Given the description of an element on the screen output the (x, y) to click on. 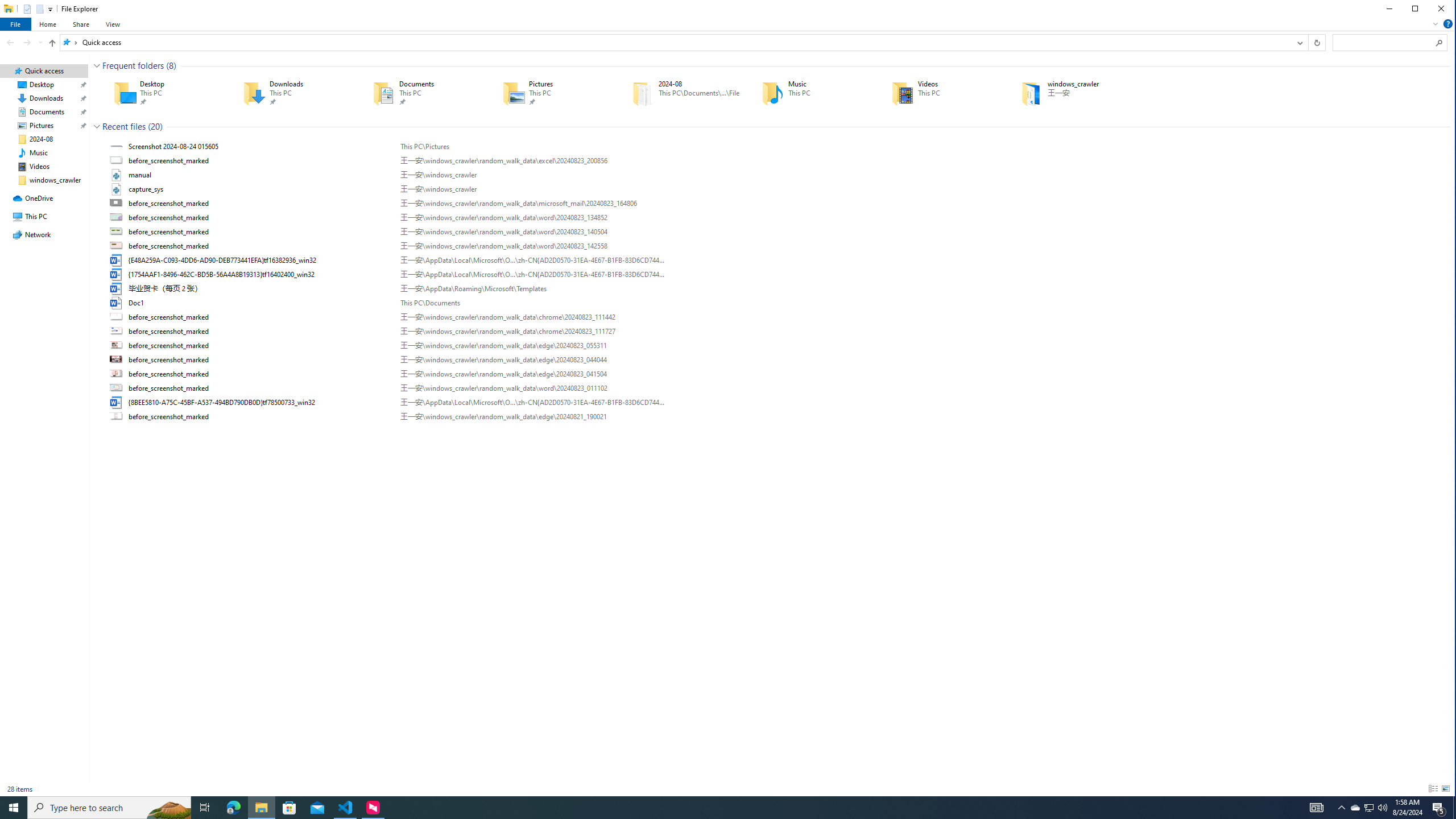
Refresh "Quick access" (F5) (1315, 42)
capture_sys (776, 188)
Class: UIImage (117, 416)
Details (1432, 789)
Videos (939, 93)
Back (Alt + Left Arrow) (9, 42)
Documents (421, 93)
Up to "Desktop" (Alt + Up Arrow) (52, 42)
Address: Quick access (675, 42)
New folder (39, 8)
Recent locations (39, 42)
Search Box (1384, 42)
Screenshot 2024-08-24 015605 (776, 146)
manual (776, 174)
